Given the description of an element on the screen output the (x, y) to click on. 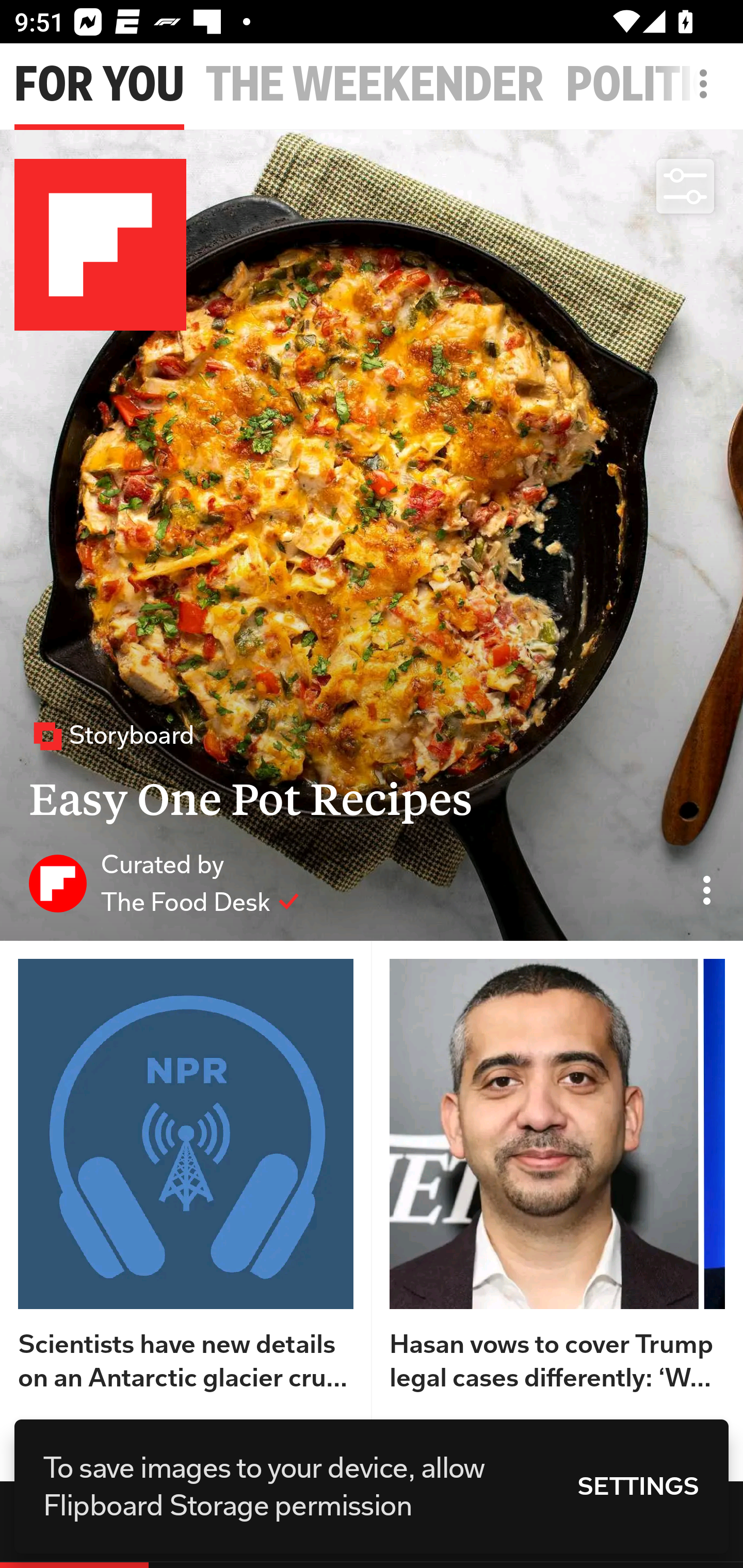
FOR YOU (99, 84)
THE WEEKENDER (374, 84)
POLITICS (654, 84)
More options (706, 93)
Curated by The Food Desk (163, 882)
